Given the description of an element on the screen output the (x, y) to click on. 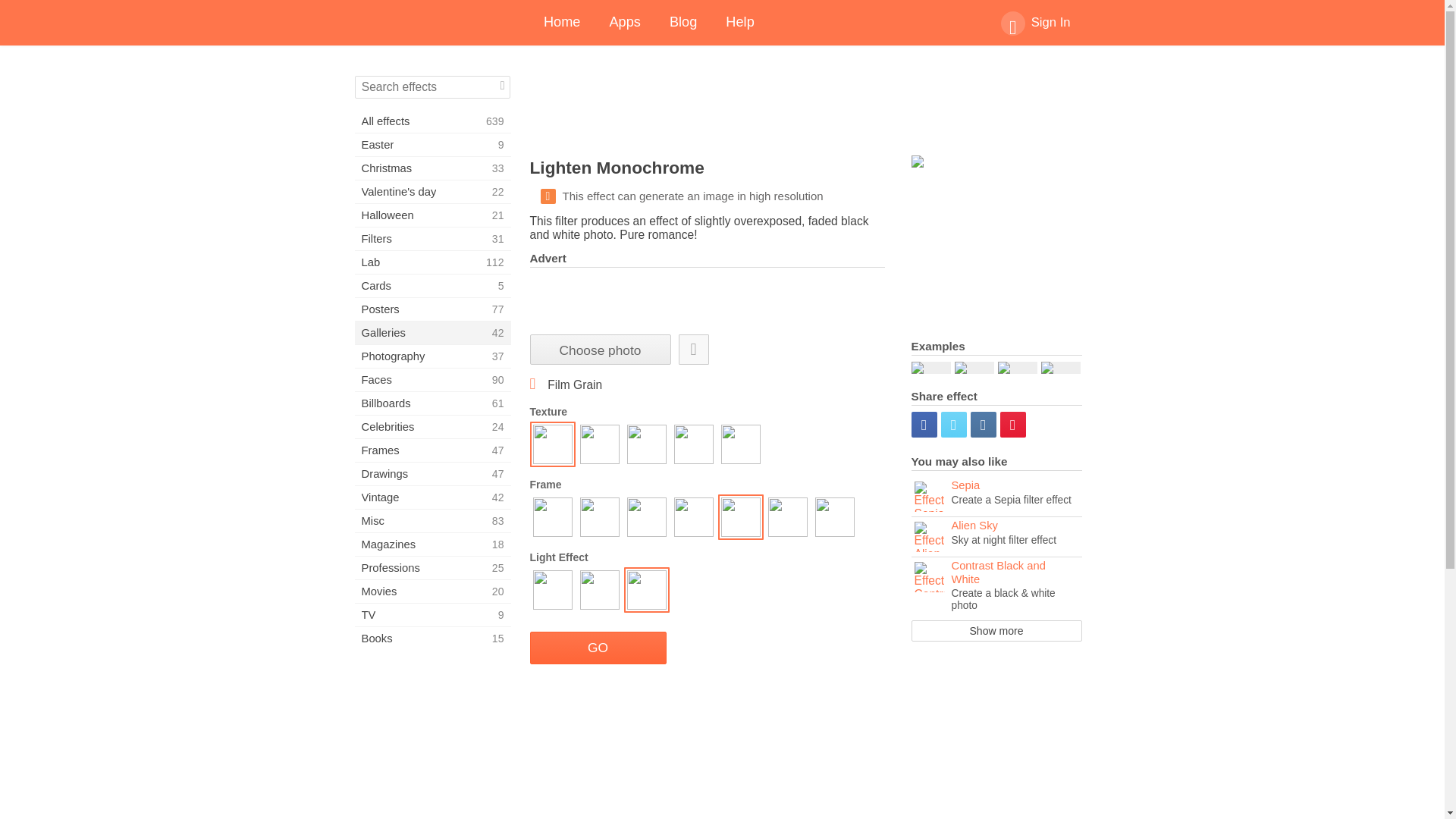
Blog (433, 520)
